Given the description of an element on the screen output the (x, y) to click on. 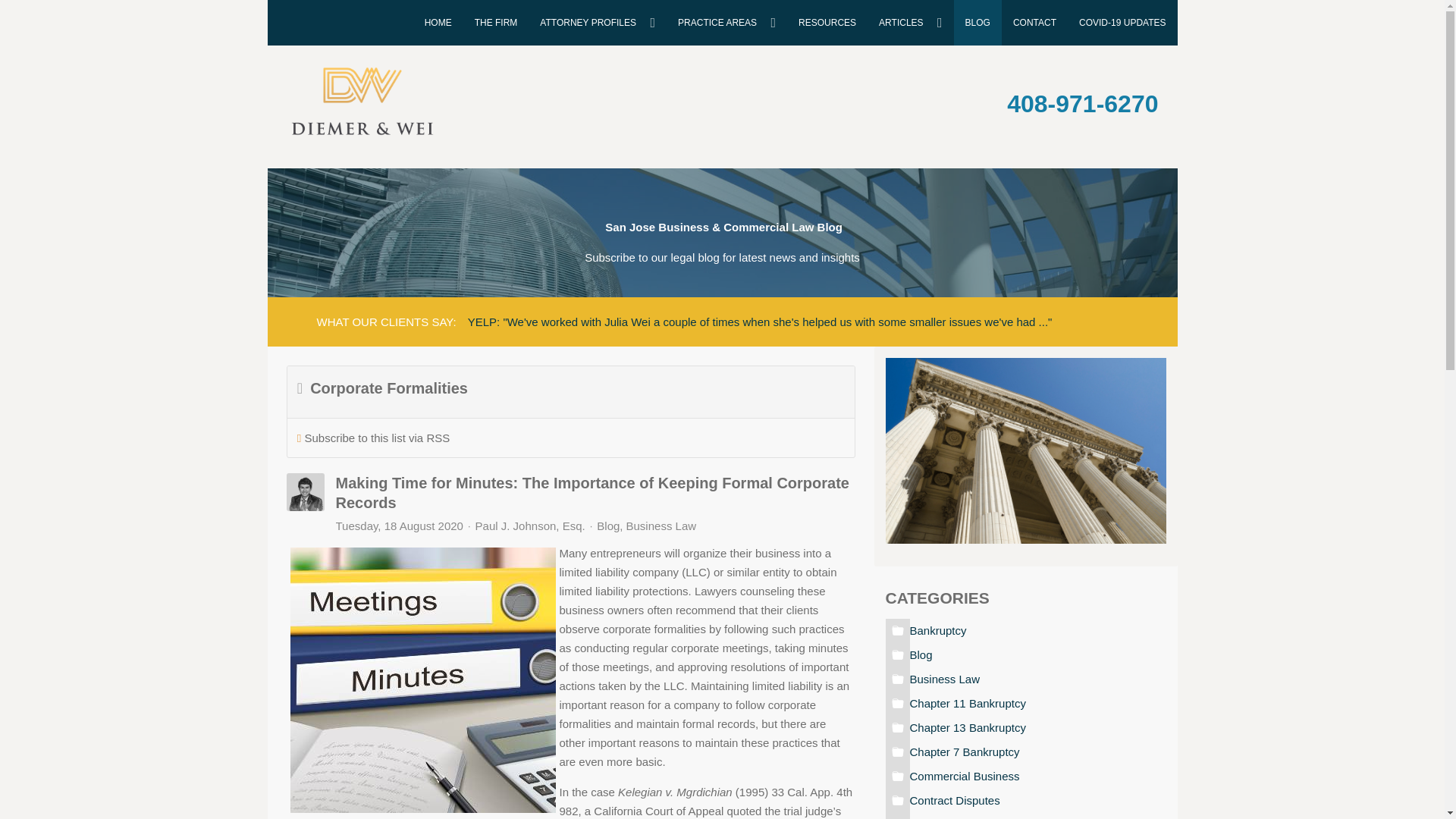
HOME (438, 22)
PRACTICE AREAS (726, 22)
BLOG (977, 22)
ATTORNEY PROFILES (597, 22)
RESOURCES (827, 22)
THE FIRM (496, 22)
Subscribe to this list via RSS (376, 437)
ARTICLES (910, 22)
